Given the description of an element on the screen output the (x, y) to click on. 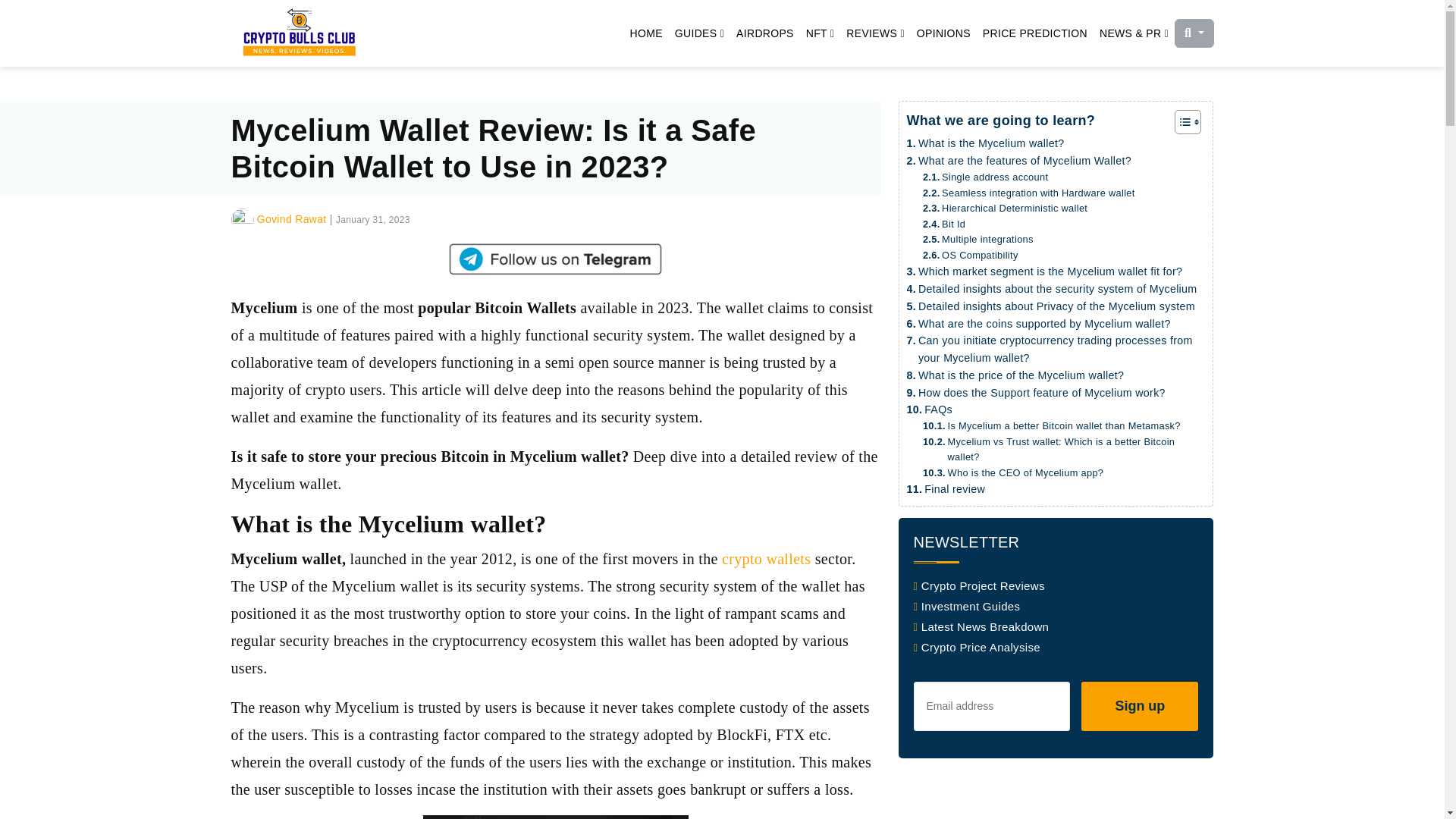
AIRDROPS (764, 33)
REVIEWS (875, 33)
PRICE PREDICTION (1034, 33)
Govind Rawat (291, 218)
OPINIONS (943, 33)
NFT (820, 33)
HOME (646, 33)
Sign up (1139, 705)
GUIDES (699, 33)
